Given the description of an element on the screen output the (x, y) to click on. 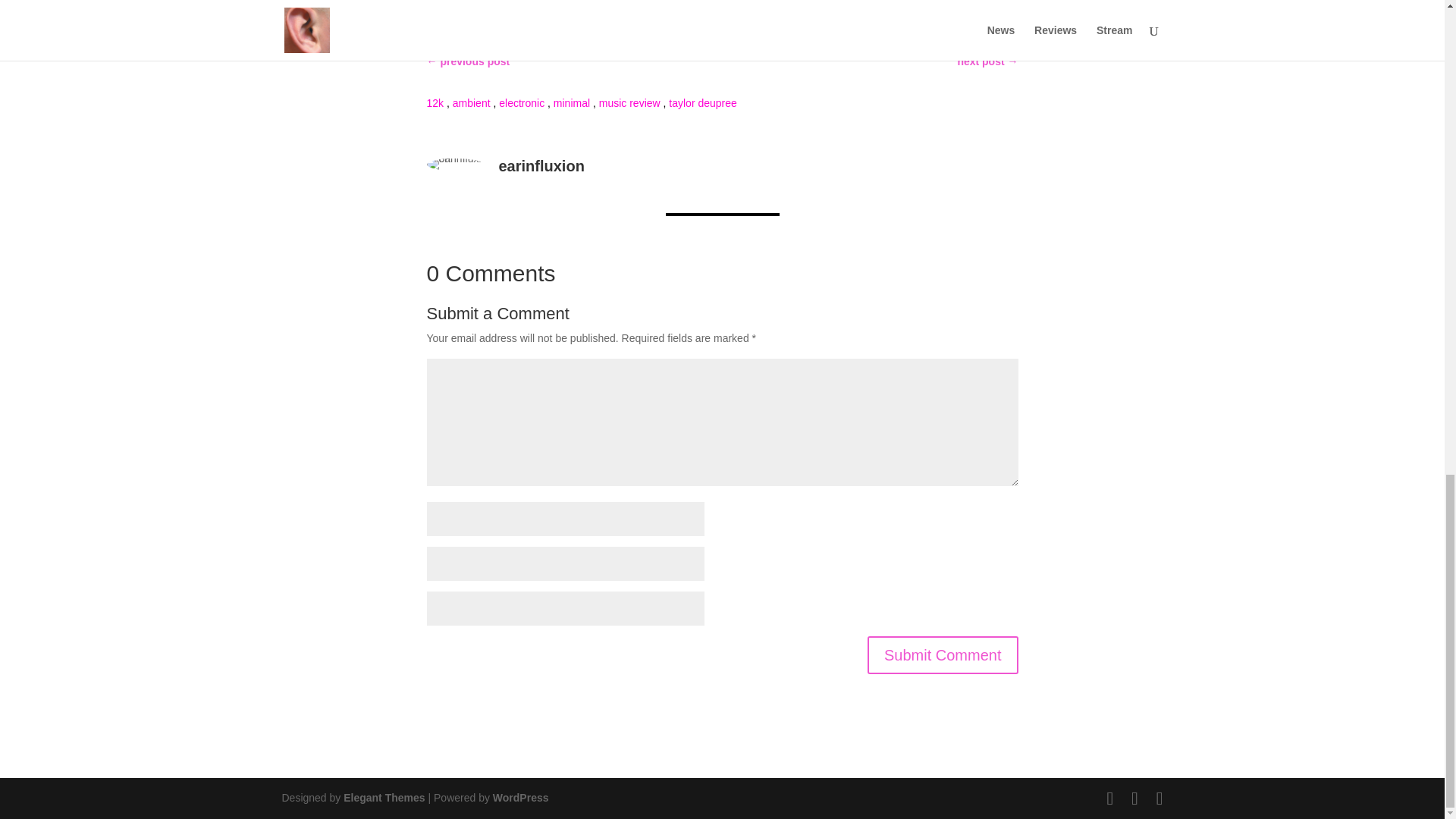
minimal (571, 102)
Boomkat (564, 4)
electronic (521, 102)
WordPress (520, 797)
iTunes (622, 4)
Elegant Themes (384, 797)
12k (435, 102)
Submit Comment (942, 655)
Premium WordPress Themes (384, 797)
ambient (471, 102)
taylor deupree (702, 102)
Amazon (677, 4)
music review (629, 102)
12k Shop (496, 4)
